Given the description of an element on the screen output the (x, y) to click on. 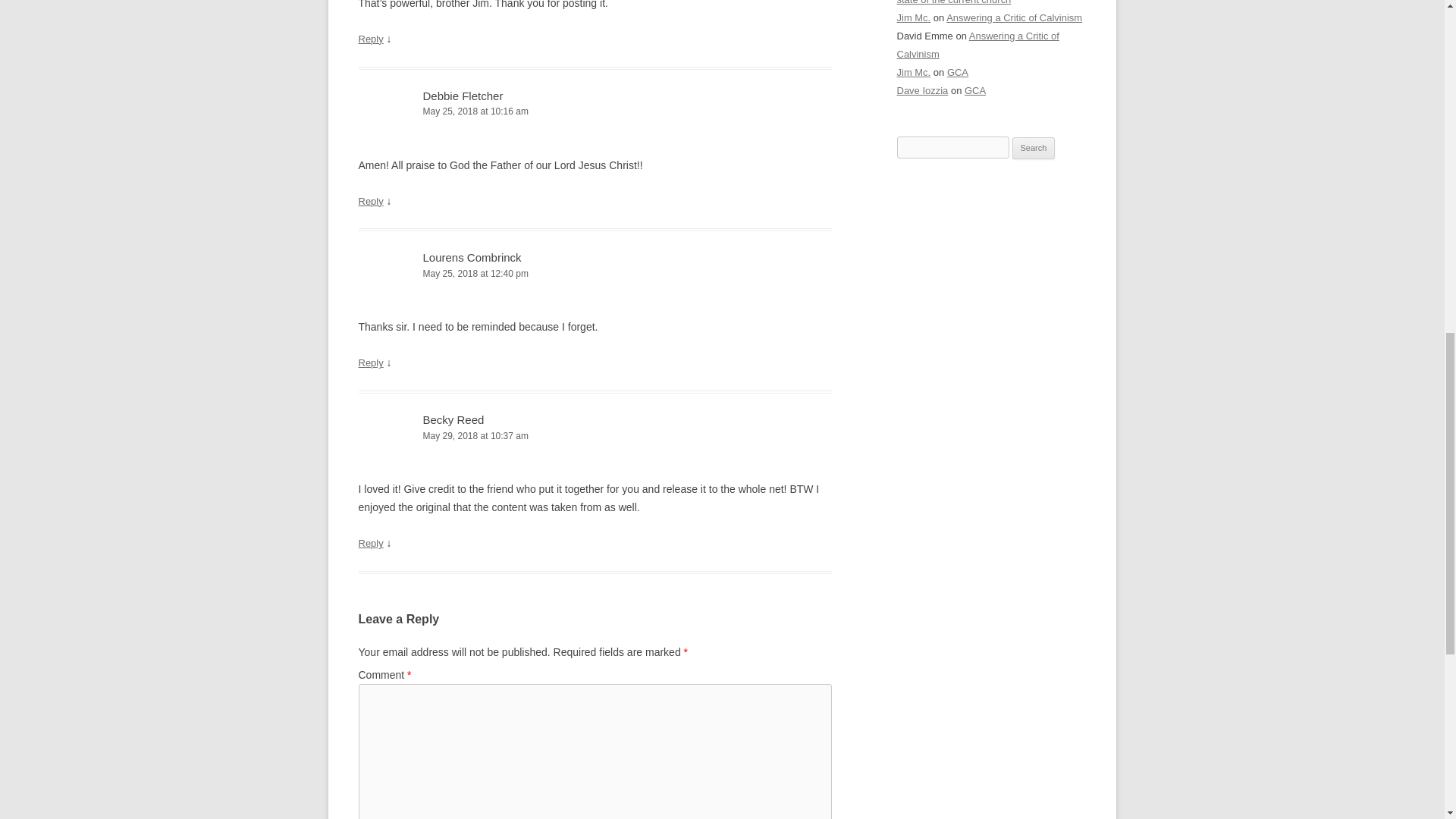
Reply (370, 542)
Reply (370, 201)
Search (1033, 148)
Reply (370, 39)
Reply (370, 362)
May 25, 2018 at 12:40 pm (594, 273)
May 25, 2018 at 10:16 am (594, 111)
May 29, 2018 at 10:37 am (594, 436)
